Given the description of an element on the screen output the (x, y) to click on. 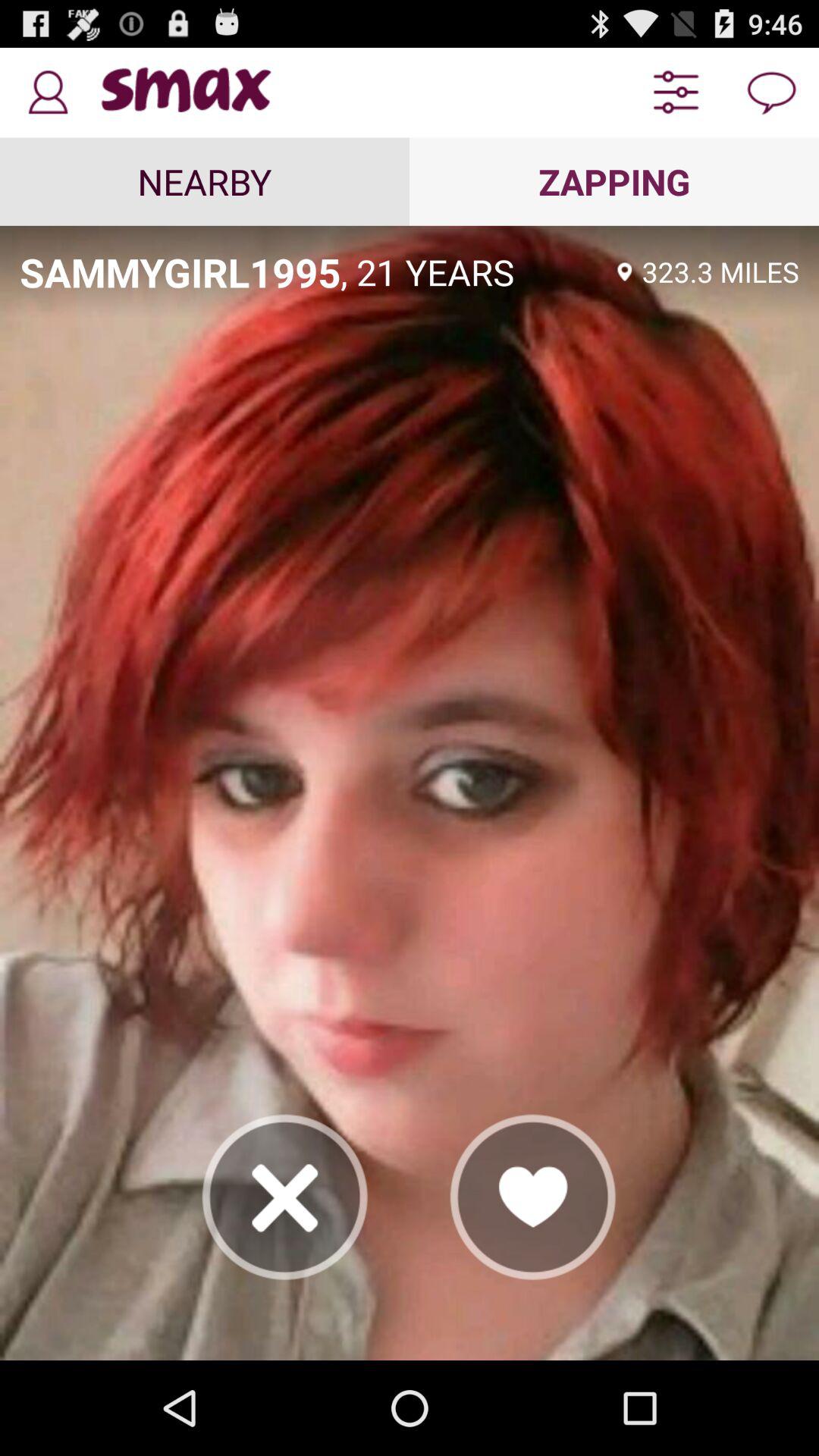
launch app below sammygirl1995 app (285, 1196)
